Given the description of an element on the screen output the (x, y) to click on. 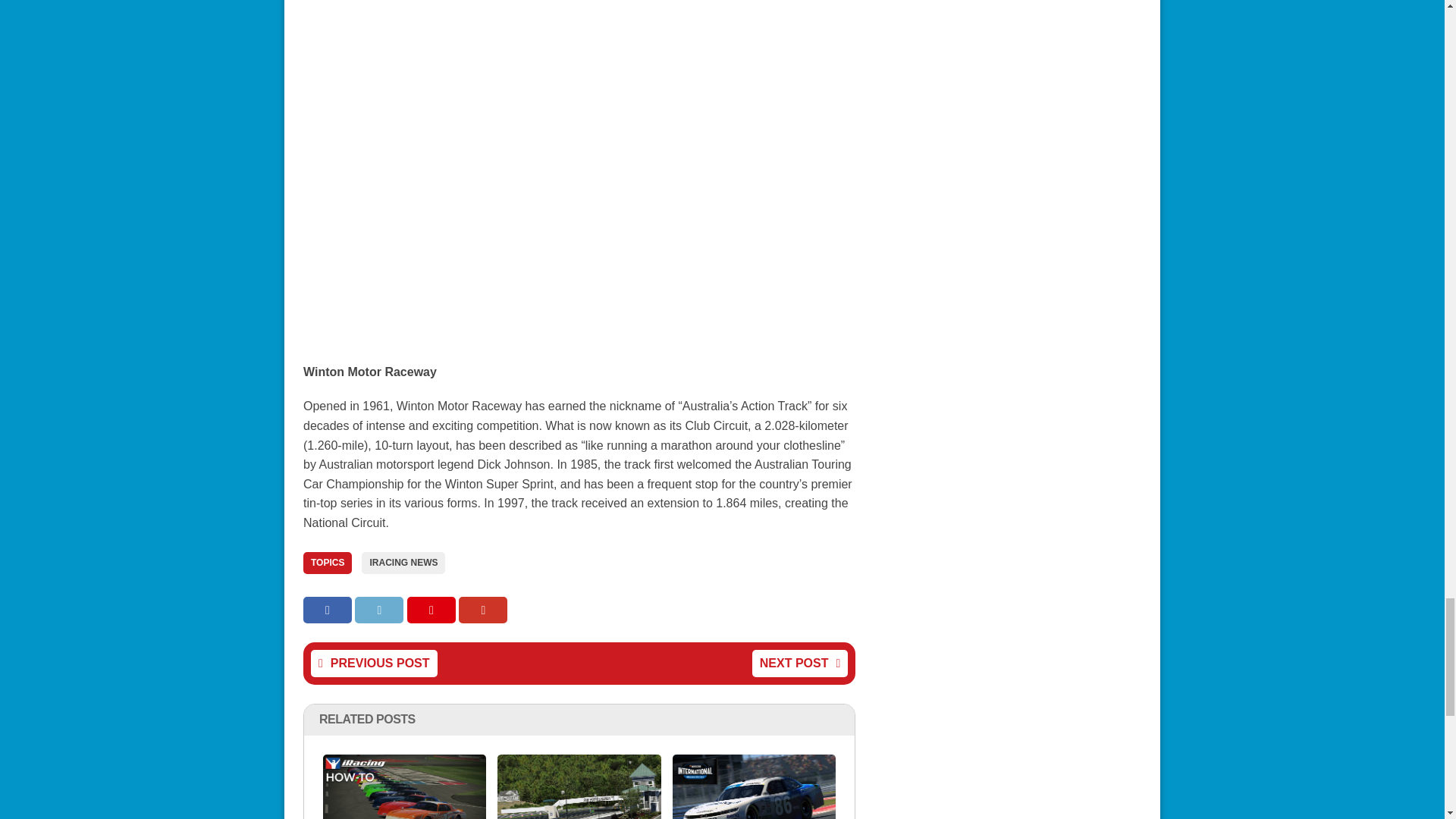
Pin This Post (432, 609)
Tweet This Post (380, 609)
Share on Facebook (328, 609)
